Given the description of an element on the screen output the (x, y) to click on. 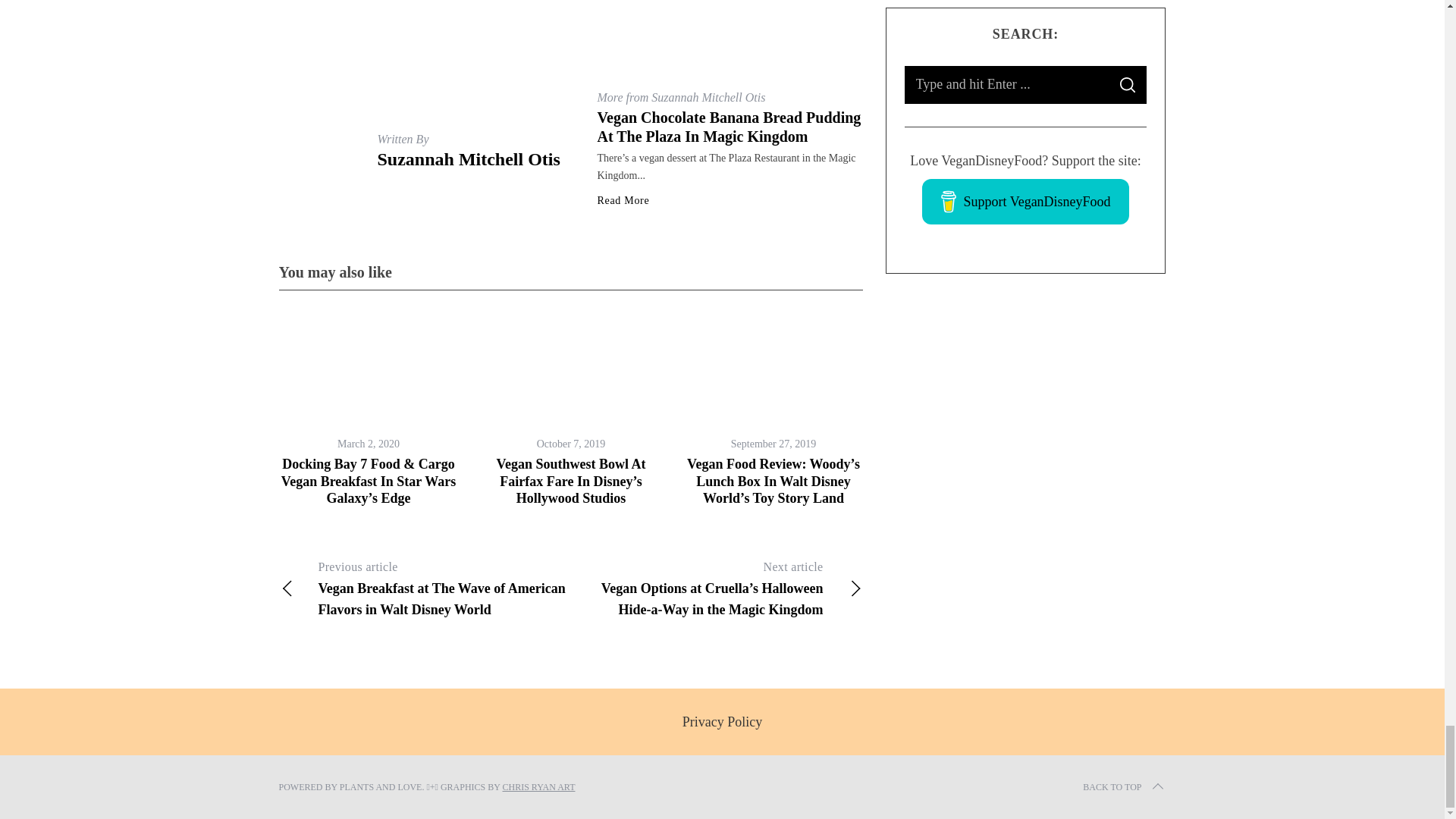
Suzannah Mitchell Otis (468, 158)
Read More (622, 200)
